Given the description of an element on the screen output the (x, y) to click on. 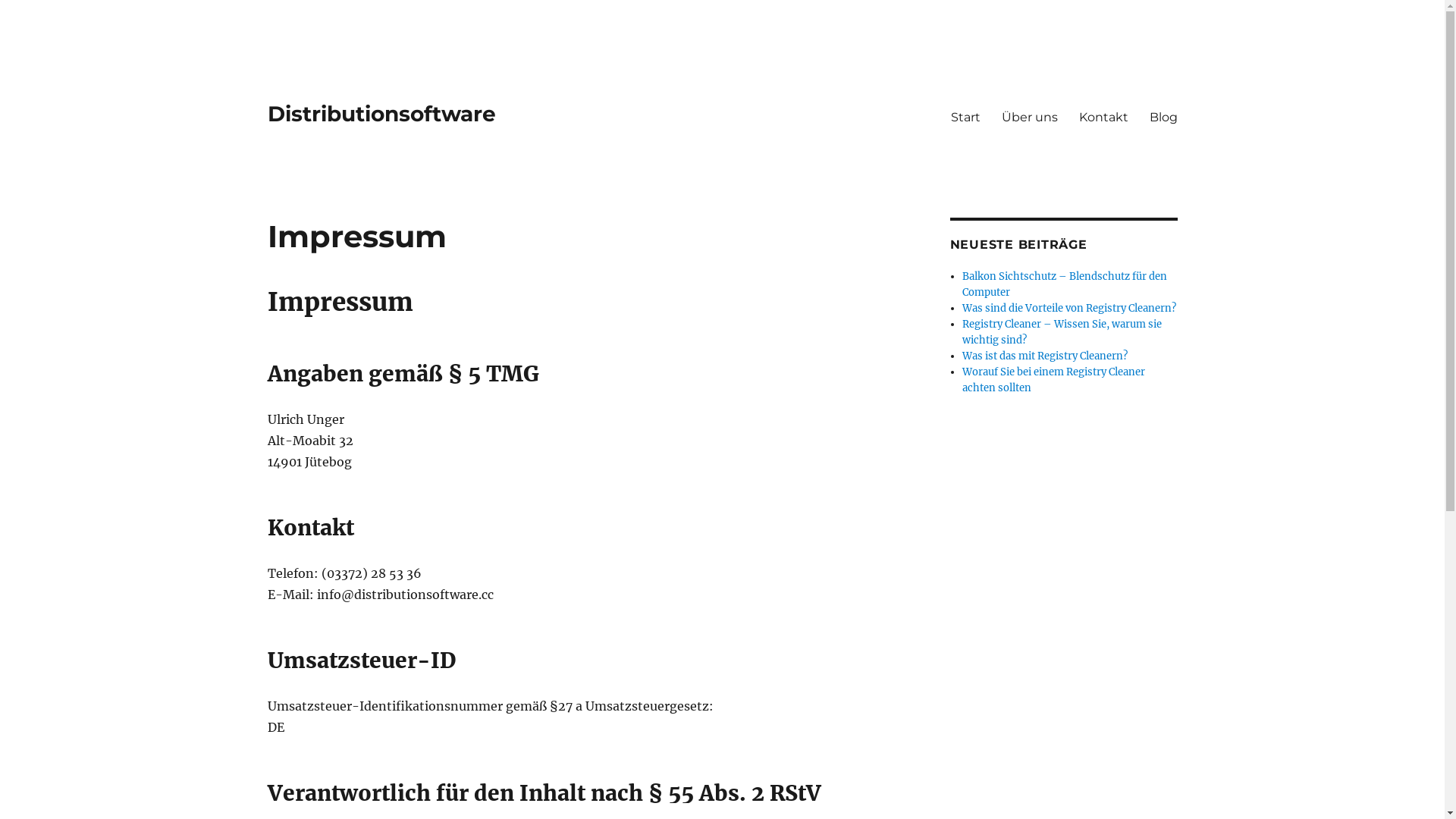
Worauf Sie bei einem Registry Cleaner achten sollten Element type: text (1053, 379)
Kontakt Element type: text (1102, 116)
Datenschutz Element type: text (664, 772)
Kontakt Element type: text (848, 772)
Distributionsoftware Element type: text (380, 113)
Impressum Element type: text (589, 772)
Haftungsausschluss Element type: text (762, 772)
Was ist das mit Registry Cleanern? Element type: text (1044, 355)
Was sind die Vorteile von Registry Cleanern? Element type: text (1069, 307)
Blog Element type: text (1163, 116)
Start Element type: text (965, 116)
